Given the description of an element on the screen output the (x, y) to click on. 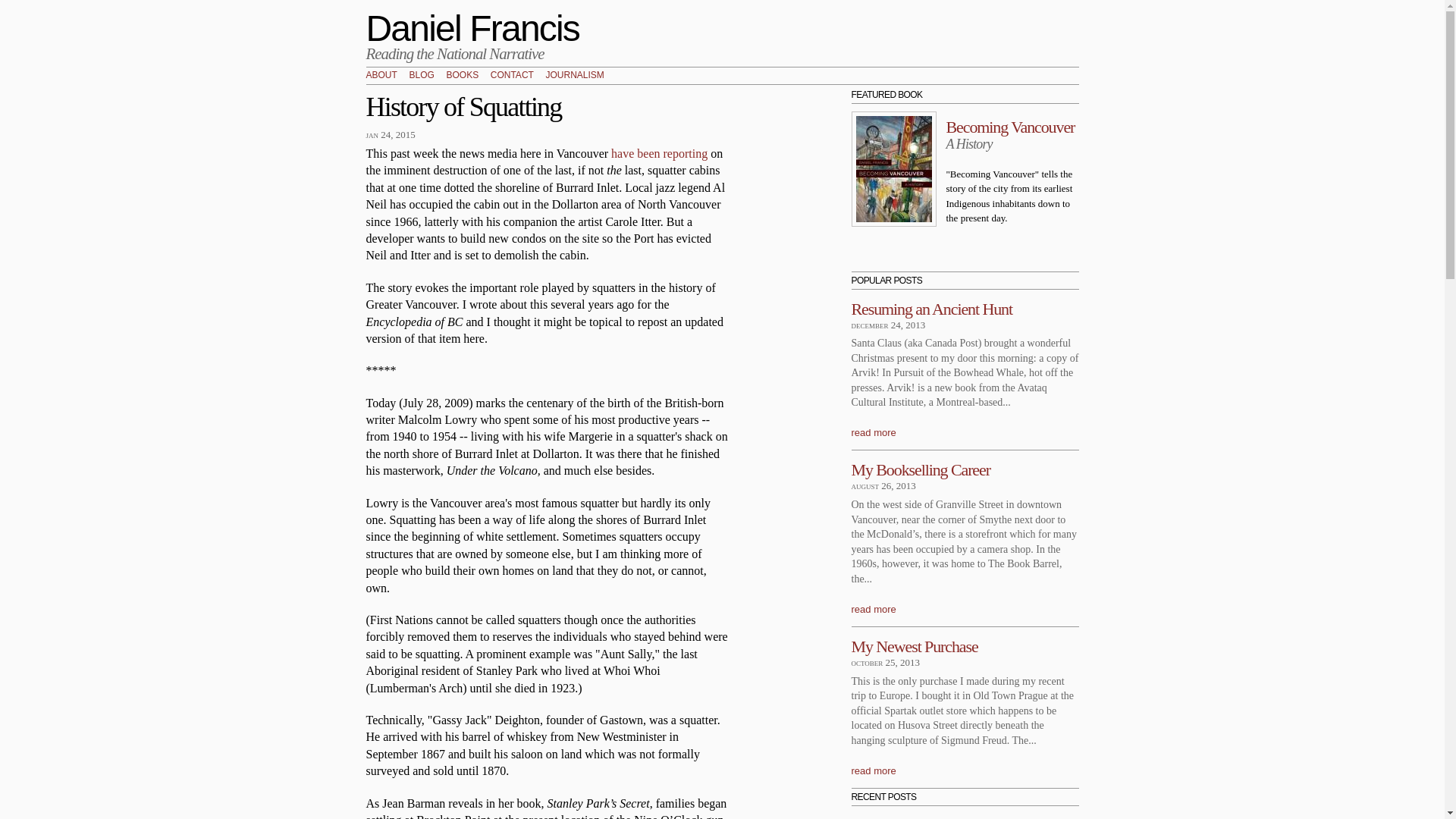
read more (872, 432)
BLOG (421, 74)
BOOKS (462, 74)
Resuming an Ancient Hunt (930, 307)
CONTACT (512, 74)
Becoming Vancouver (1010, 126)
JOURNALISM (575, 74)
Daniel Francis (472, 28)
Home (472, 28)
read more (872, 769)
